Given the description of an element on the screen output the (x, y) to click on. 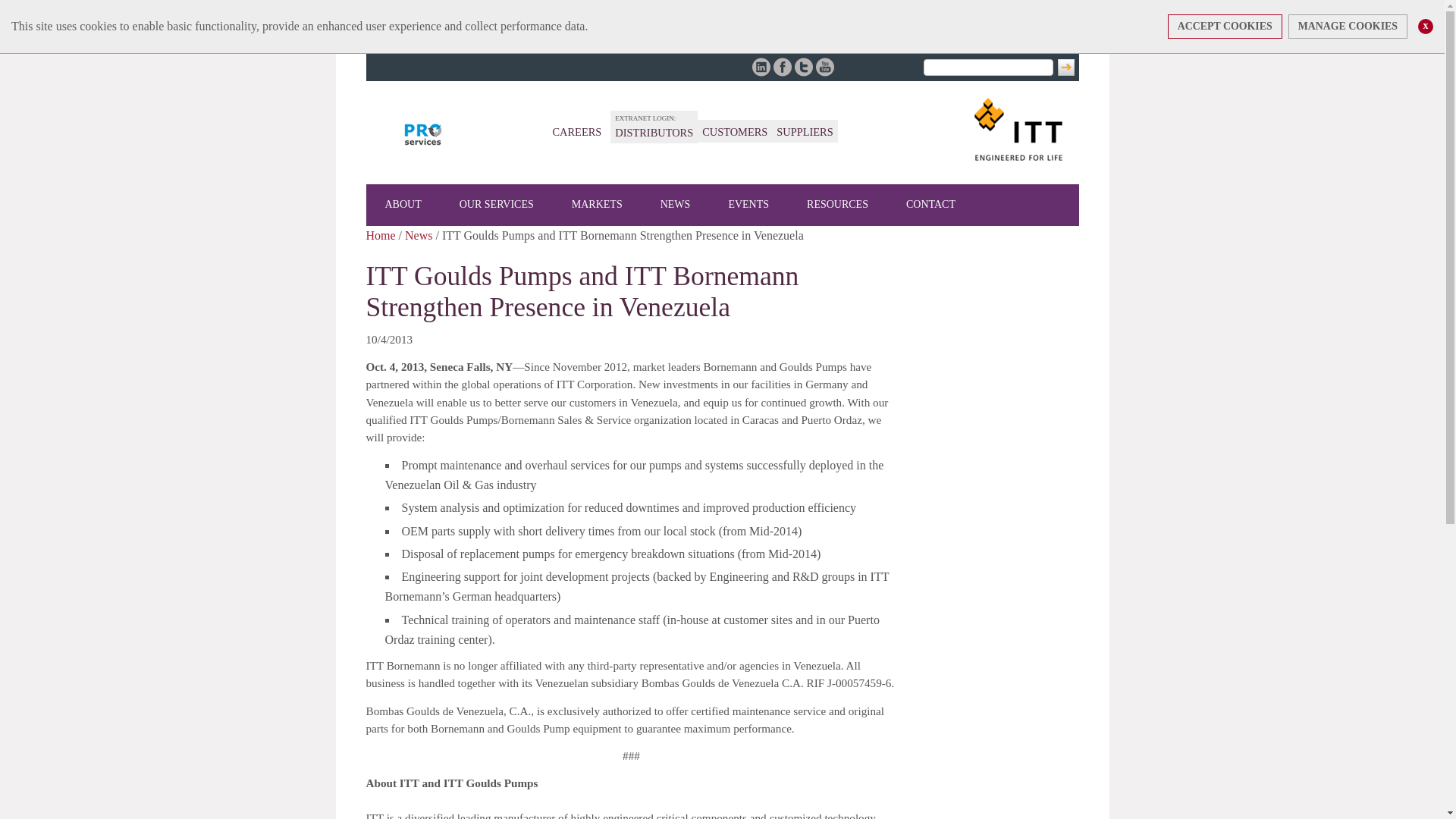
DISTRIBUTORS (653, 132)
CUSTOMERS (734, 132)
ACCEPT COOKIES (1224, 26)
x (1425, 26)
CAREERS (576, 132)
YouTube (824, 66)
Goulds Pumps (423, 134)
Twitter (803, 66)
SUPPLIERS (804, 132)
Facebook (782, 66)
